Given the description of an element on the screen output the (x, y) to click on. 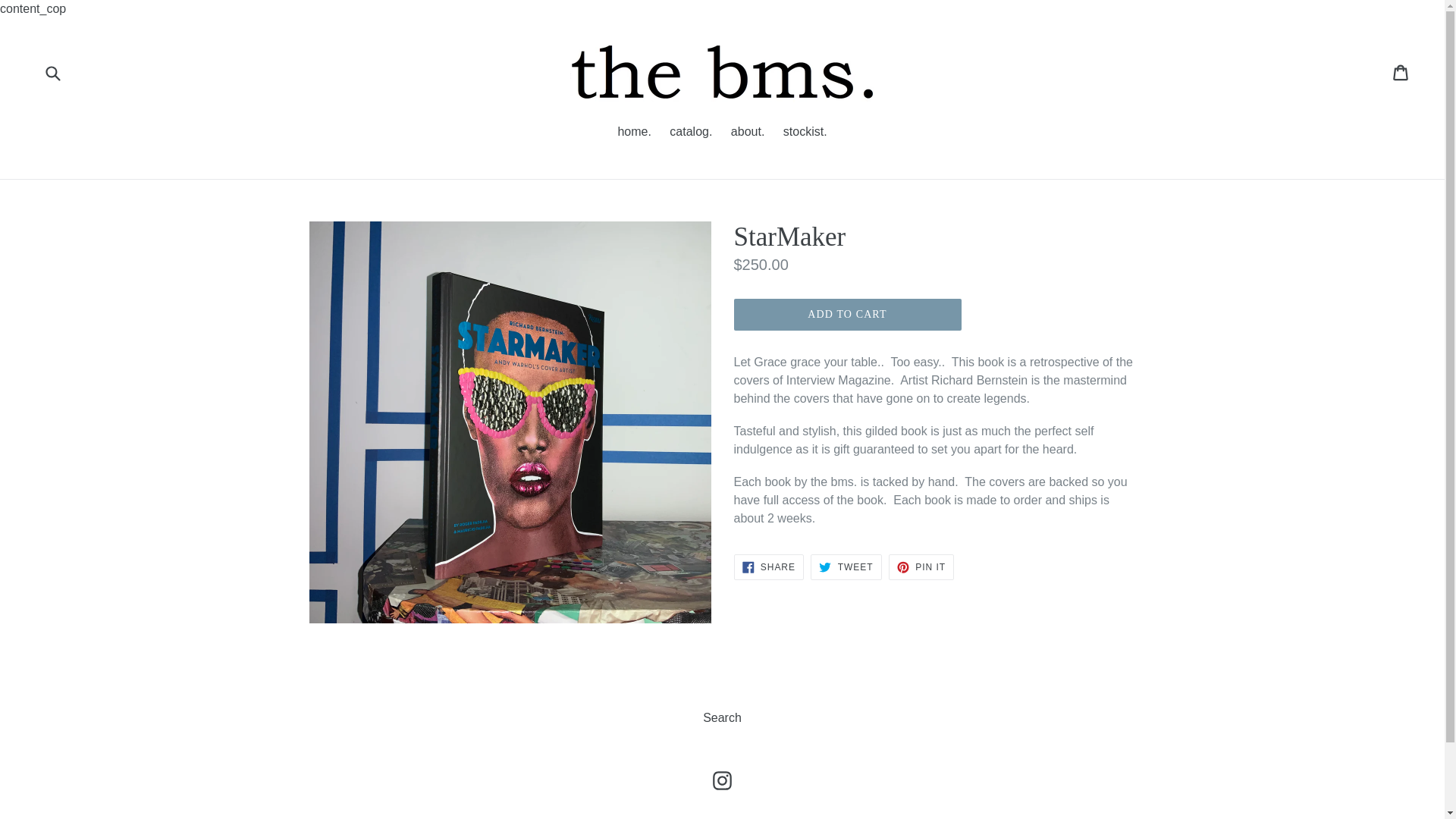
the bms. on Instagram (721, 780)
about. (747, 132)
stockist. (805, 132)
catalog. (768, 566)
Instagram (690, 132)
Share on Facebook (721, 780)
Pin on Pinterest (768, 566)
